Given the description of an element on the screen output the (x, y) to click on. 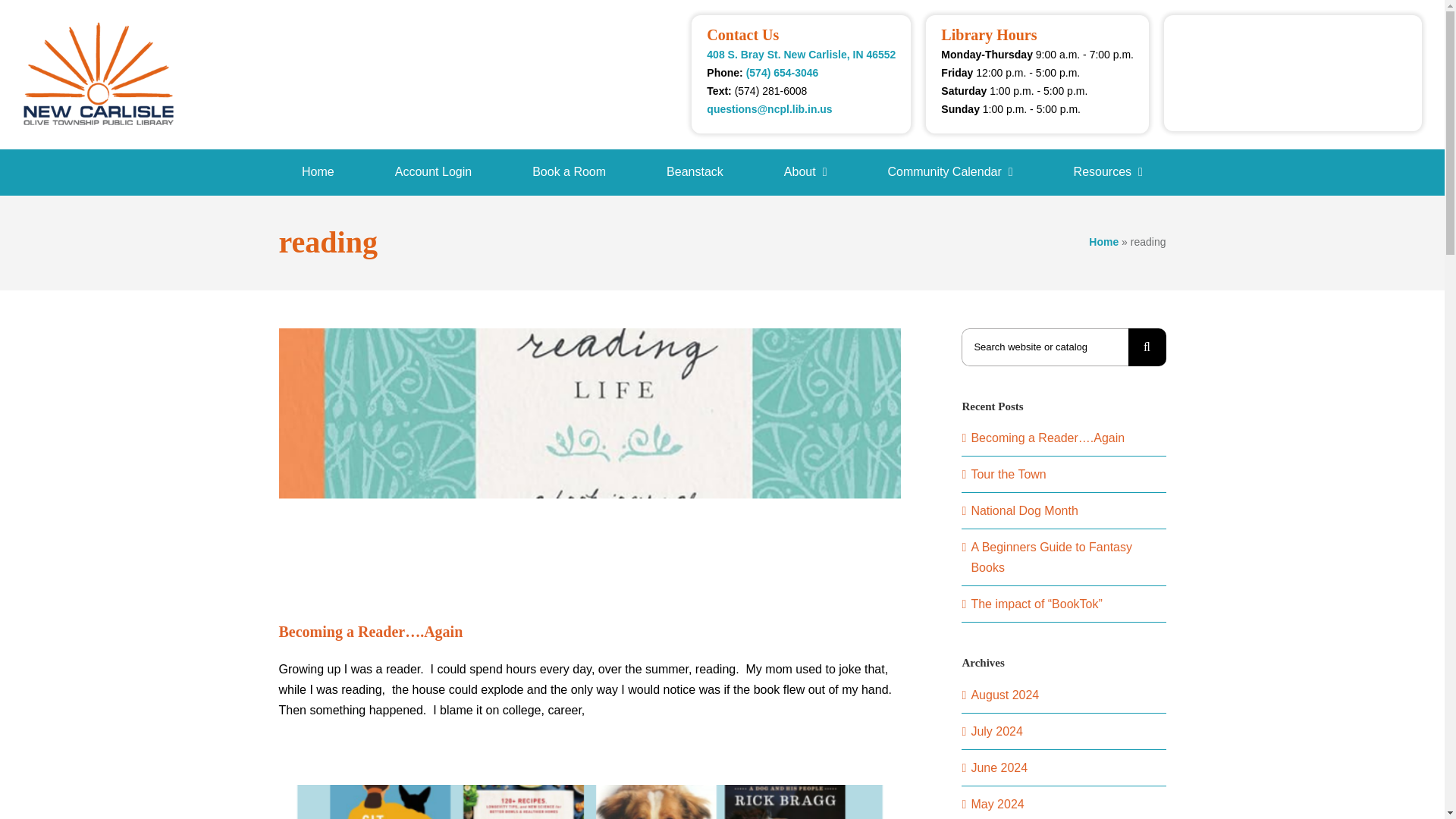
Home (317, 171)
Resources (1108, 171)
Home (1103, 241)
About (805, 171)
408 S. Bray St. New Carlisle, IN 46552 (800, 54)
Community Calendar (949, 171)
Book a Room (569, 171)
Account Login (433, 171)
Beanstack (695, 171)
